Given the description of an element on the screen output the (x, y) to click on. 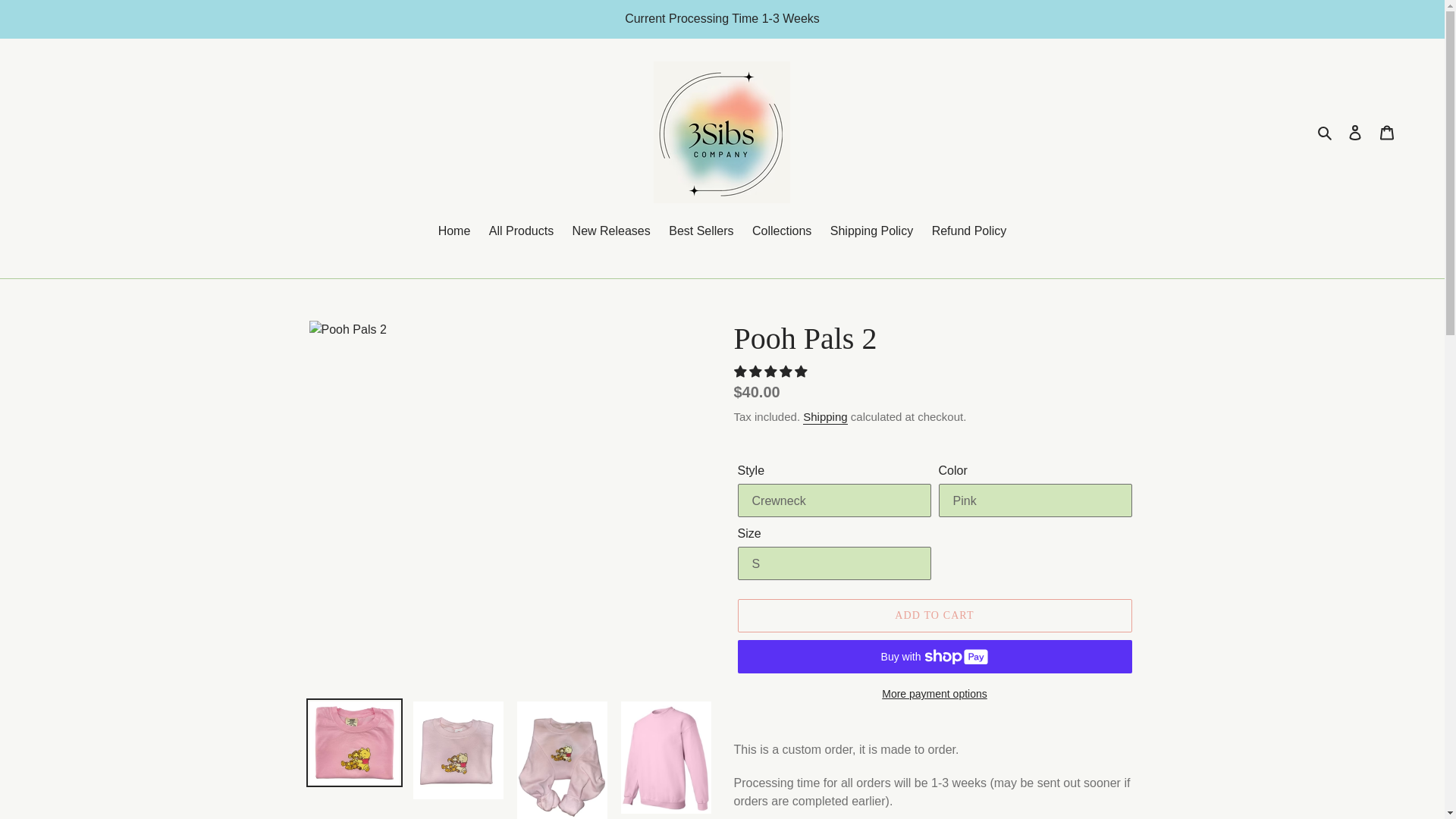
Best Sellers (701, 231)
Shipping Policy (871, 231)
ADD TO CART (933, 615)
Search (1326, 132)
All Products (520, 231)
Shipping (825, 417)
Cart (1387, 131)
Collections (781, 231)
New Releases (611, 231)
Log in (1355, 131)
